Given the description of an element on the screen output the (x, y) to click on. 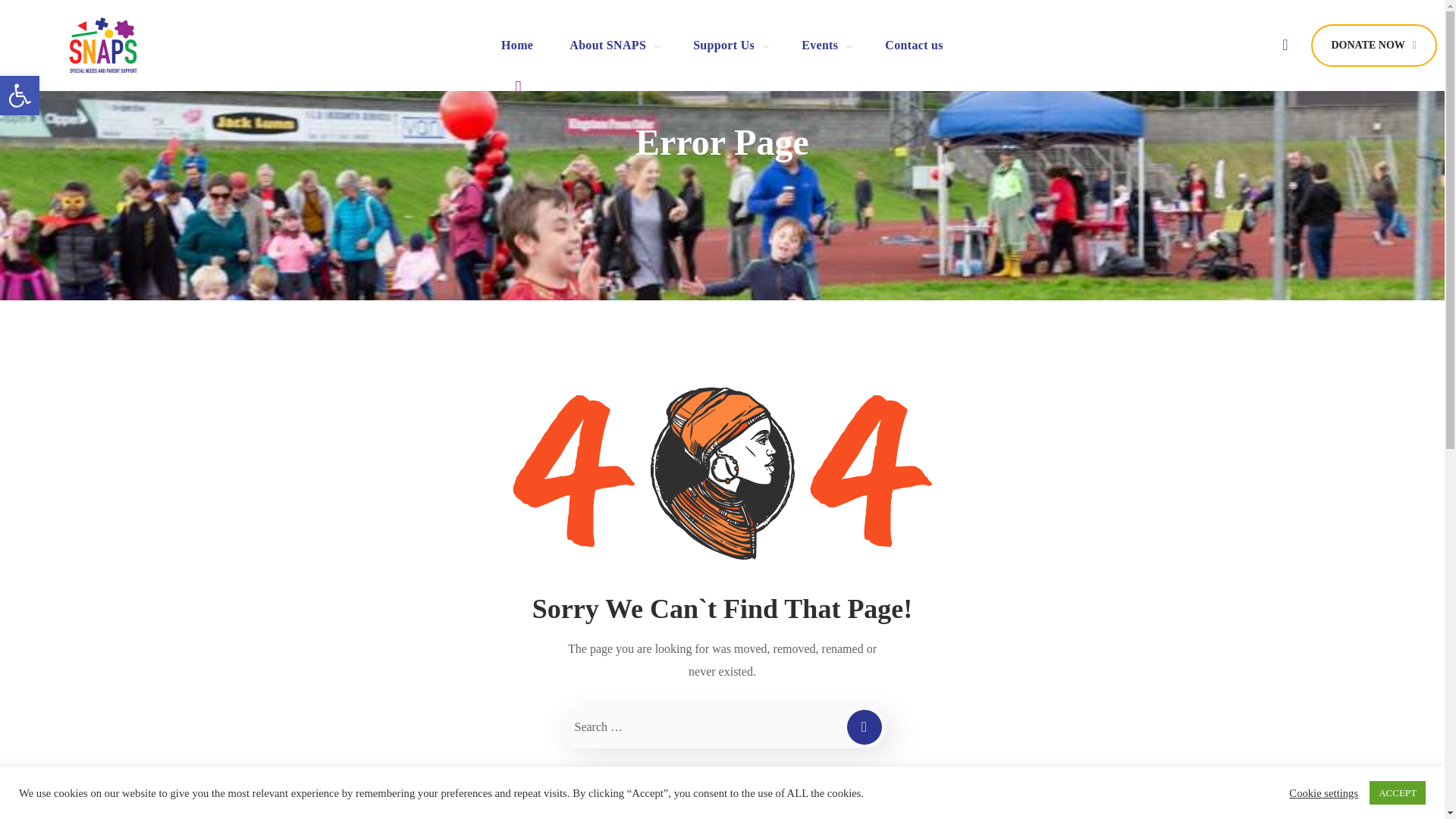
About SNAPS (19, 95)
Accessibility Tools (613, 44)
Accessibility Tools (19, 95)
Home (19, 95)
